Given the description of an element on the screen output the (x, y) to click on. 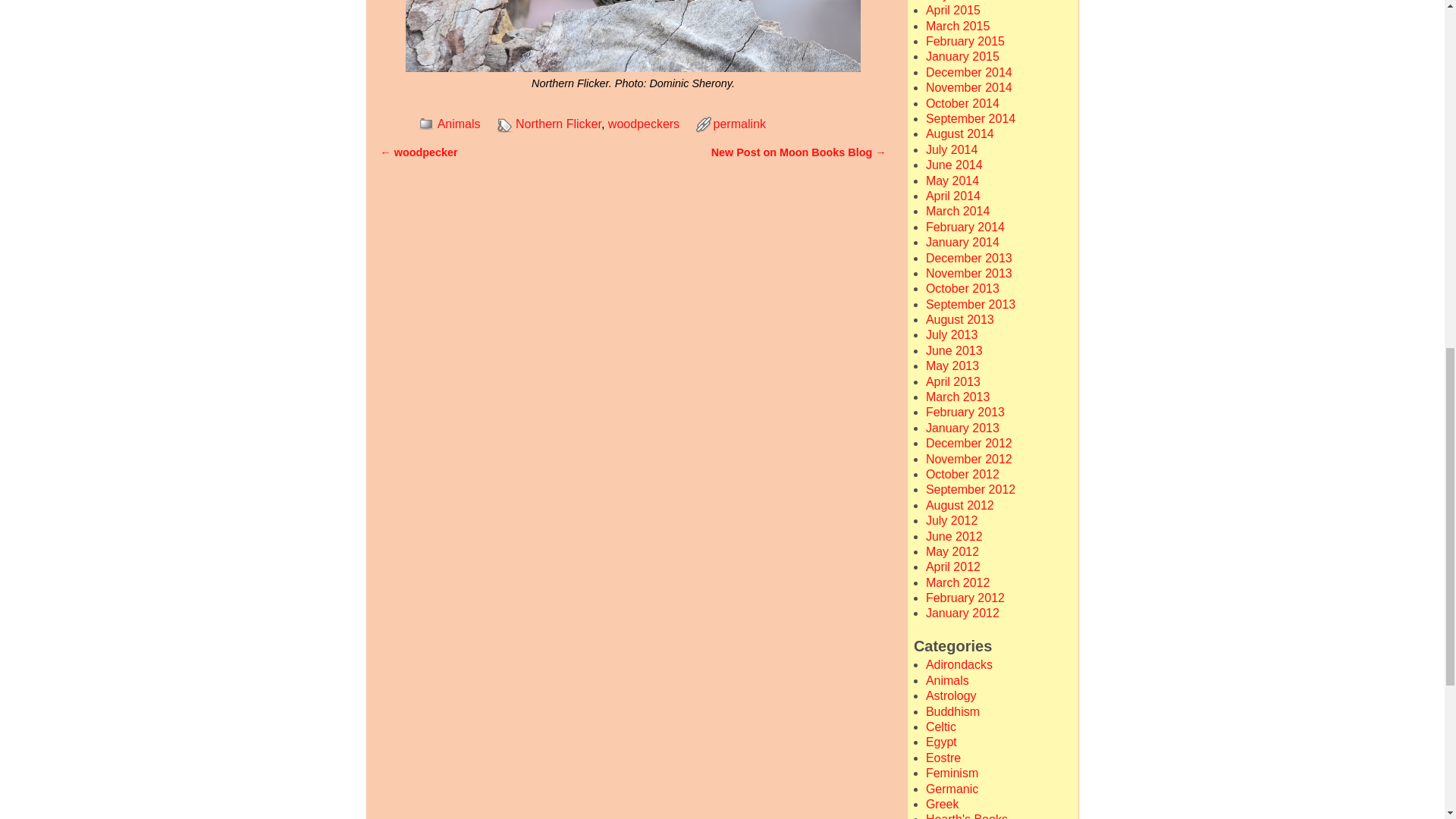
Northern Flicker (558, 123)
permalink (739, 123)
Permalink to Drawing in the Light (739, 123)
woodpeckers (643, 123)
Animals (459, 123)
